Given the description of an element on the screen output the (x, y) to click on. 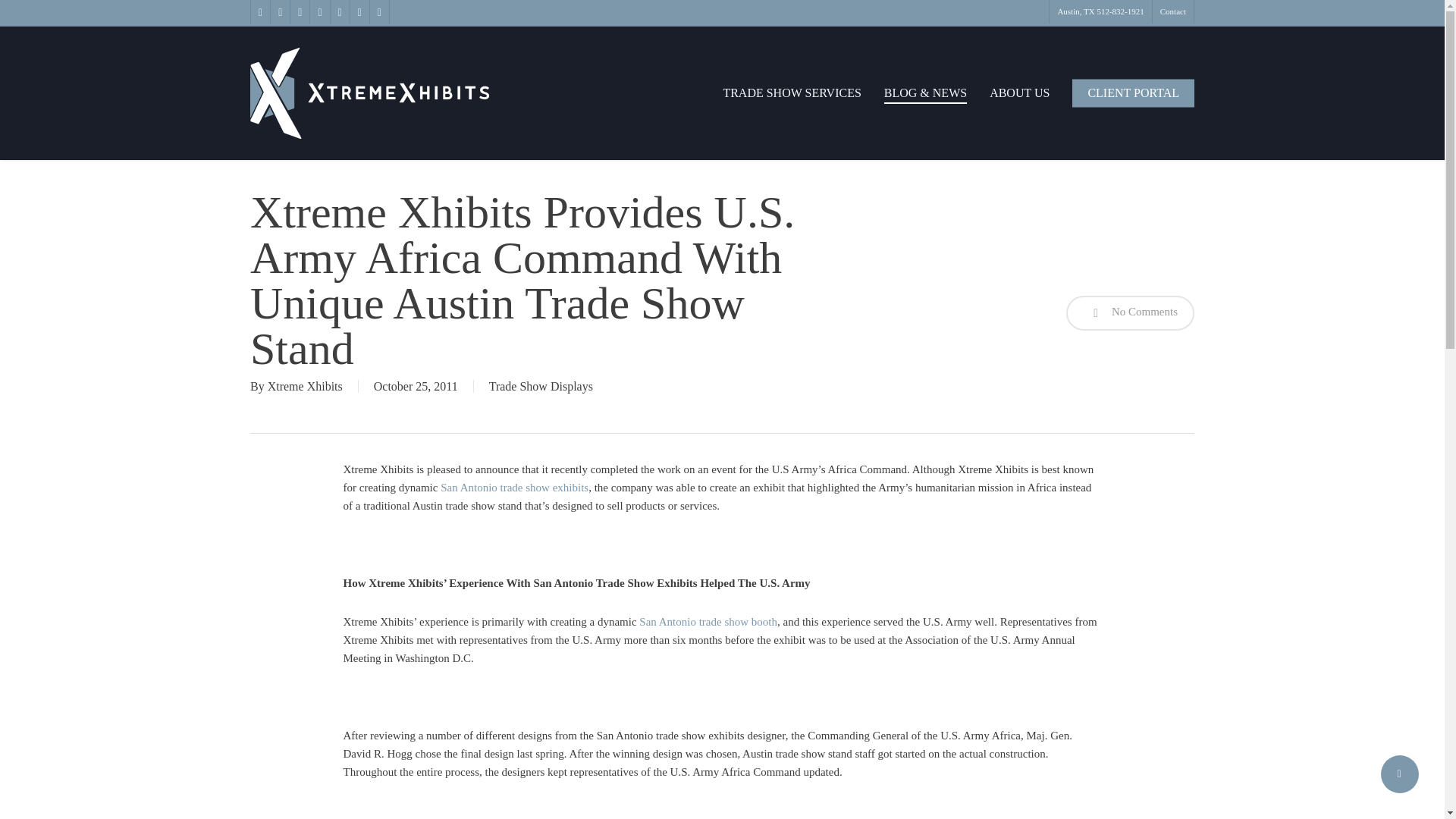
Xtreme Xhibits (304, 386)
TRADE SHOW SERVICES (791, 92)
San Antonio trade show exhibits (514, 487)
ABOUT US (1019, 92)
Austin, TX 512-832-1921 (1099, 11)
Posts by Xtreme Xhibits (304, 386)
No Comments (1129, 312)
San Antonio trade show booth (708, 621)
Trade Show Displays (540, 386)
Contact (1172, 11)
CLIENT PORTAL (1132, 92)
